Given the description of an element on the screen output the (x, y) to click on. 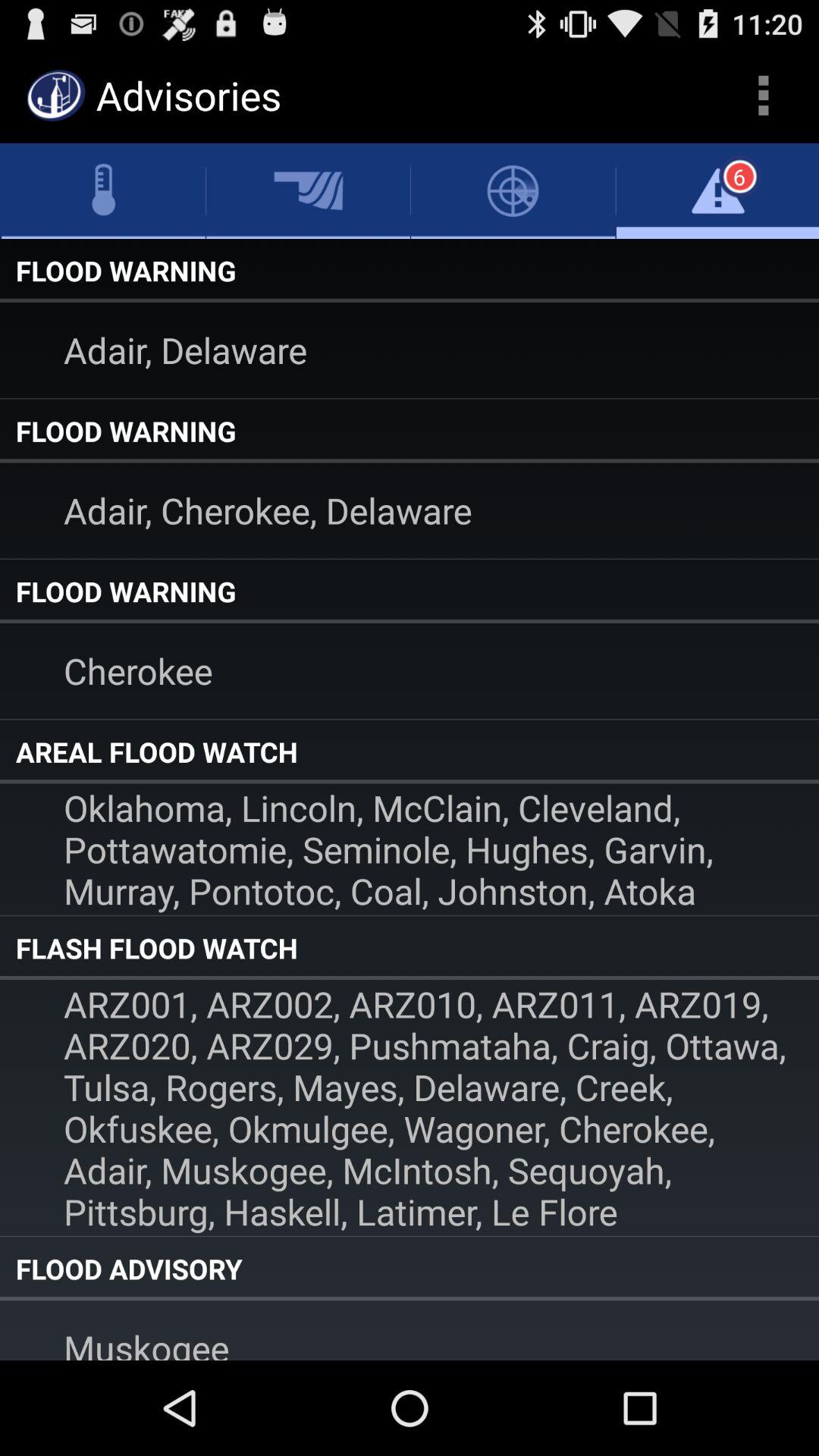
launch the muskogee (409, 1330)
